Given the description of an element on the screen output the (x, y) to click on. 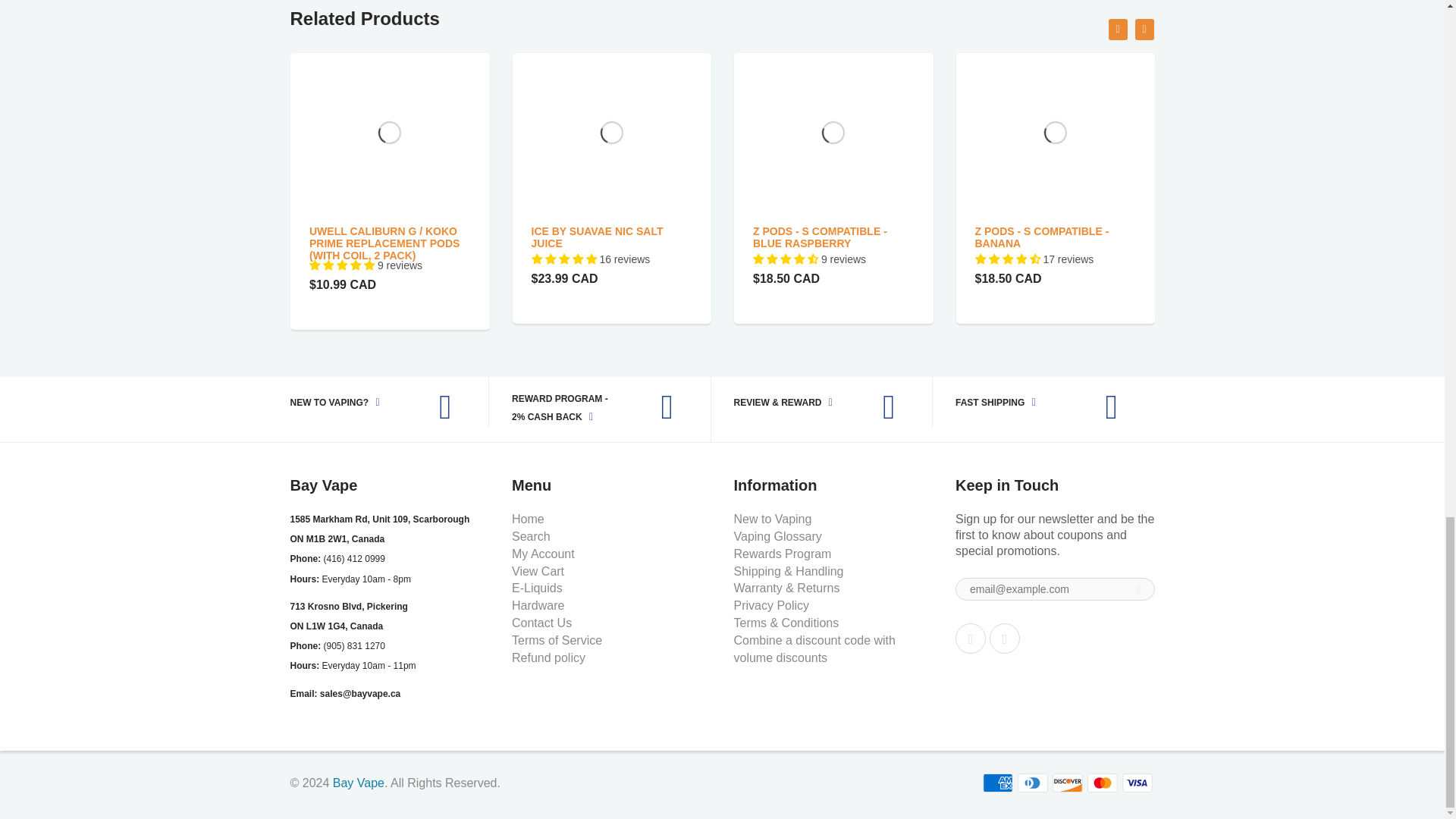
Visa (1137, 782)
American Express (997, 782)
Facebook (970, 638)
Instagram (1005, 638)
Diners Club (1032, 782)
Mastercard (1102, 782)
Discover (1067, 782)
